Given the description of an element on the screen output the (x, y) to click on. 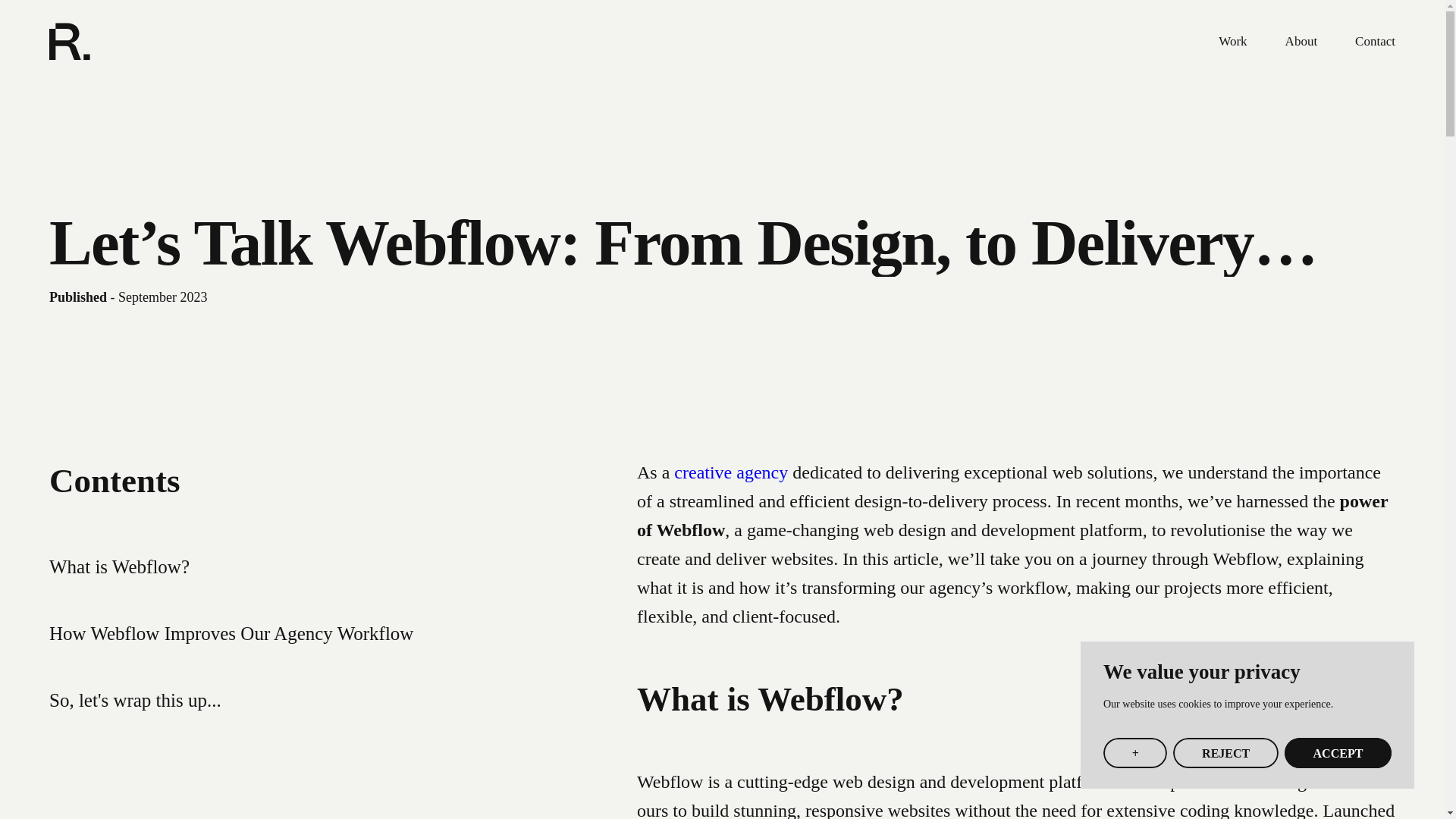
About (1301, 41)
What is Webflow? (119, 566)
So, let's wrap this up... (135, 700)
ACCEPT (1337, 752)
Contact (1374, 41)
Work (1232, 41)
creative agency (733, 472)
How Webflow Improves Our Agency Workflow (231, 633)
REJECT (1225, 752)
